Given the description of an element on the screen output the (x, y) to click on. 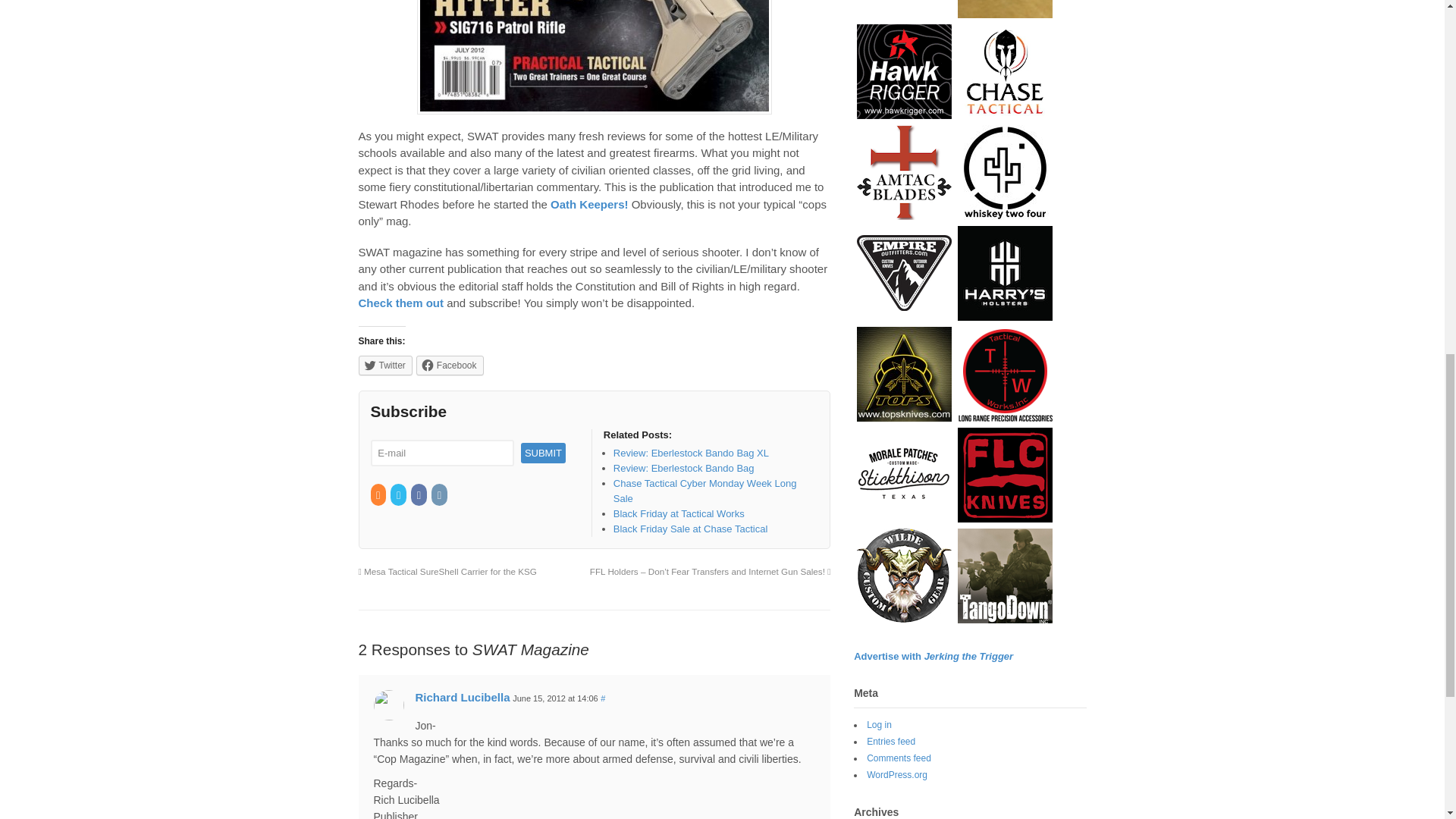
Instagram (439, 495)
Richard Lucibella (462, 697)
Click to share on Twitter (385, 365)
SWAT Magazine (593, 57)
Check them out (401, 302)
Twitter (385, 365)
E-mail (441, 452)
Review: Eberlestock Bando Bag XL (690, 452)
Facebook (449, 365)
Review: Eberlestock Bando Bag (683, 468)
